Given the description of an element on the screen output the (x, y) to click on. 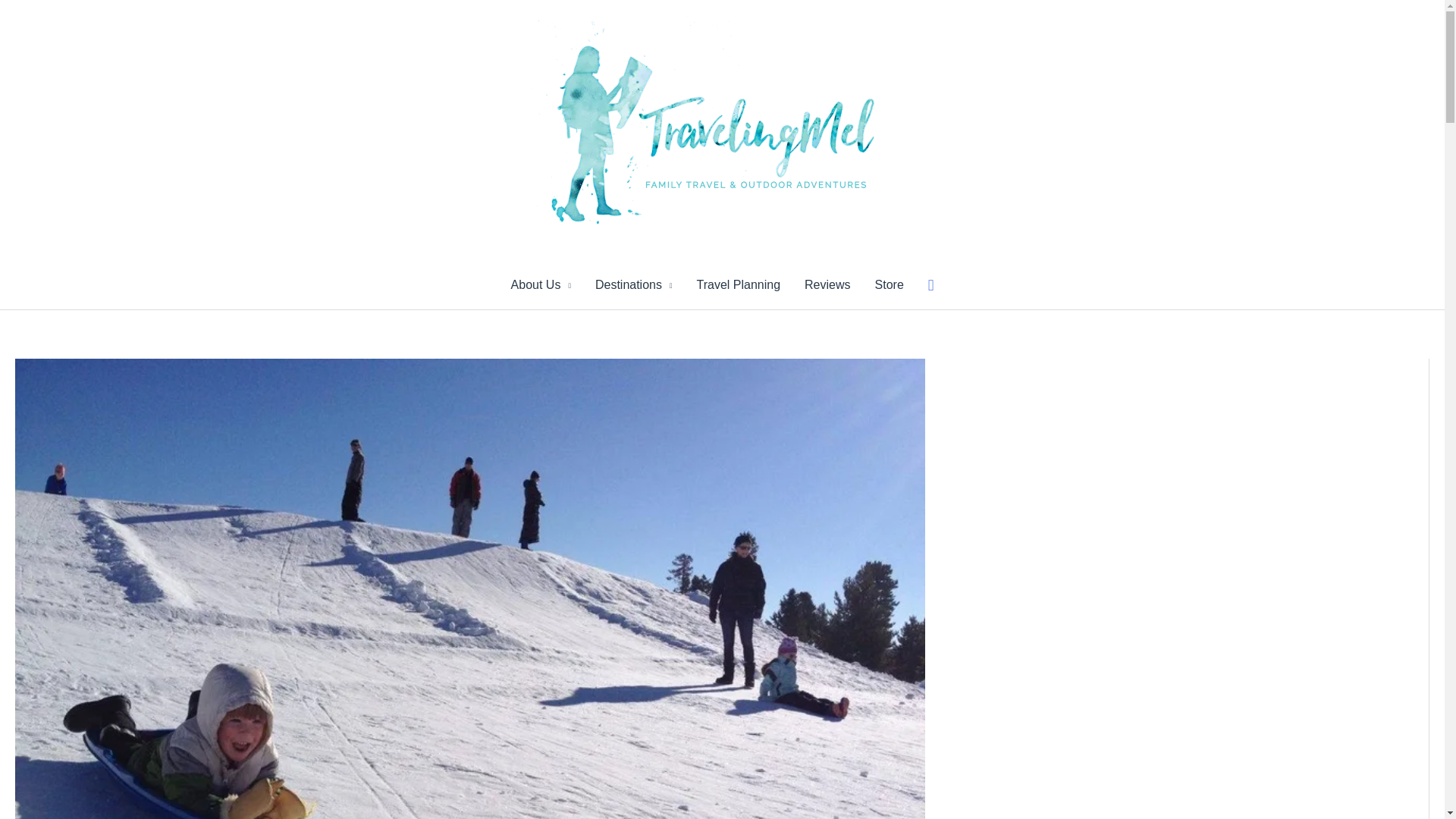
About Us (541, 285)
Store (889, 285)
Reviews (826, 285)
Travel Planning (738, 285)
Destinations (633, 285)
